Given the description of an element on the screen output the (x, y) to click on. 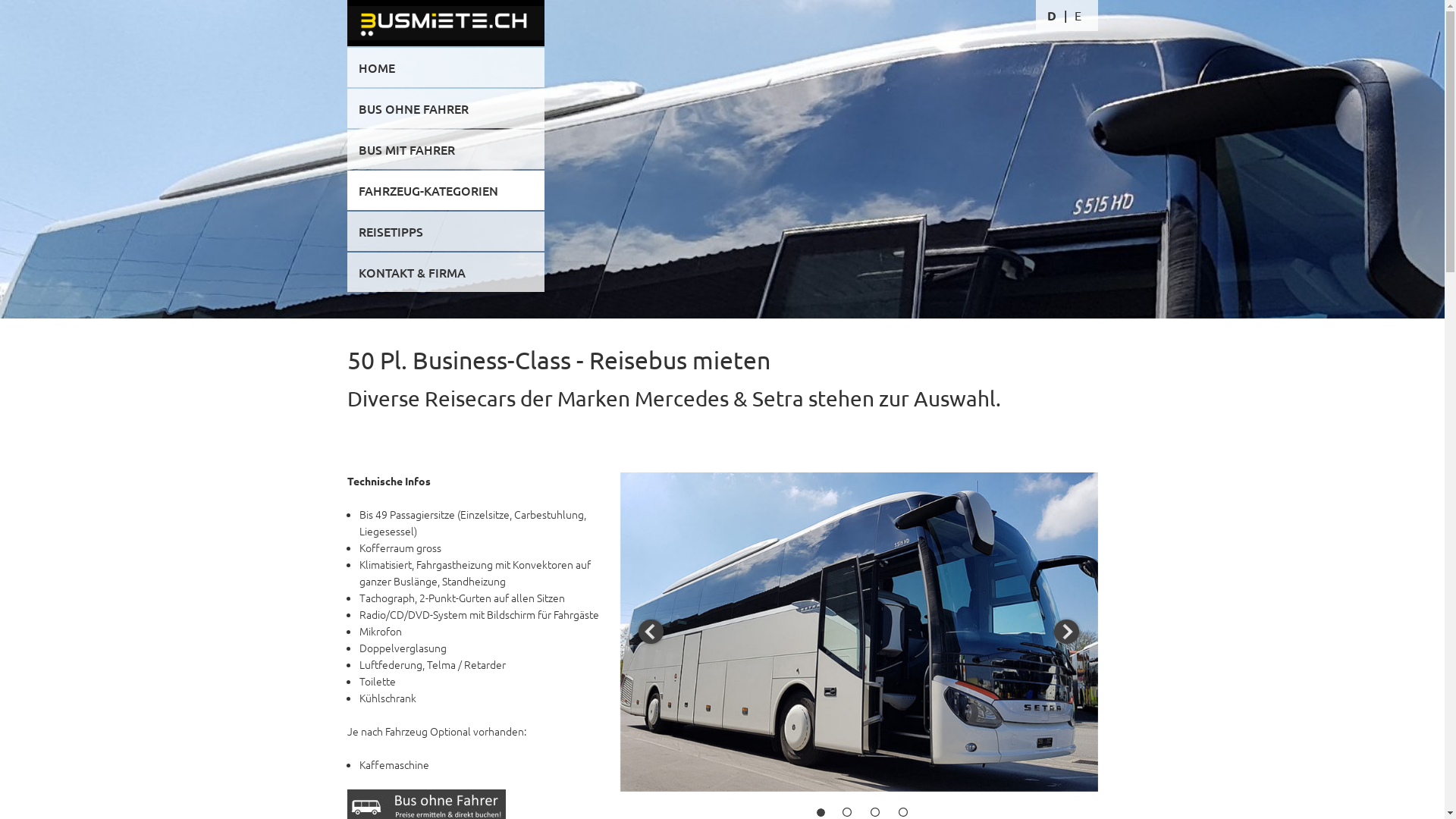
E Element type: text (1077, 15)
KONTAKT & FIRMA Element type: text (445, 271)
REISETIPPS Element type: text (445, 231)
2 Element type: text (847, 811)
Weiter Element type: text (1066, 631)
Busflotte Element type: hover (722, 197)
4 Element type: text (903, 811)
1 Element type: text (819, 812)
BUS MIT FAHRER Element type: text (445, 149)
HOME Element type: text (445, 67)
3 Element type: text (874, 811)
BUS OHNE FAHRER Element type: text (445, 108)
FAHRZEUG-KATEGORIEN Element type: text (445, 190)
D Element type: text (1051, 15)
